Given the description of an element on the screen output the (x, y) to click on. 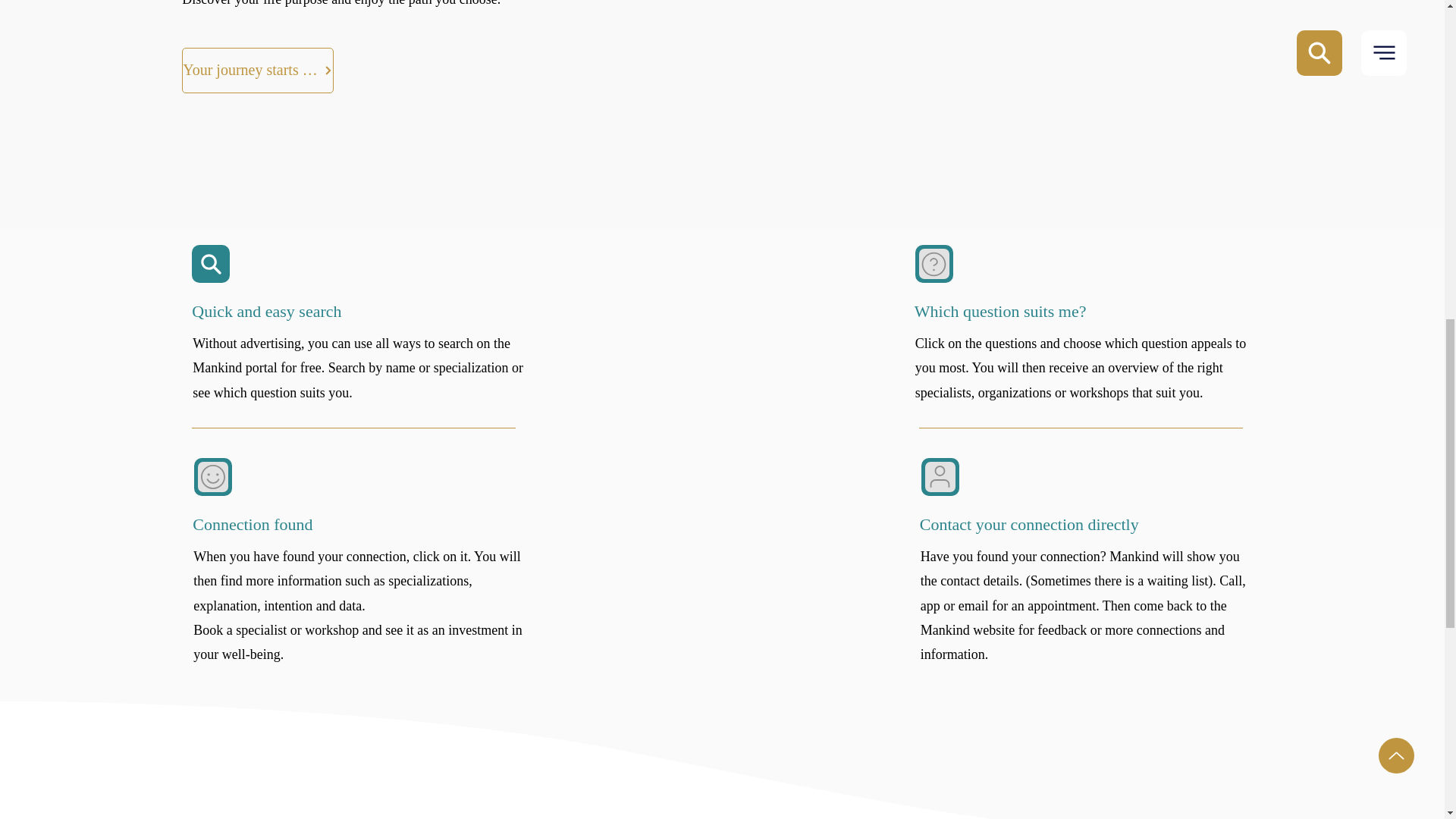
Your journey starts here (257, 70)
